Given the description of an element on the screen output the (x, y) to click on. 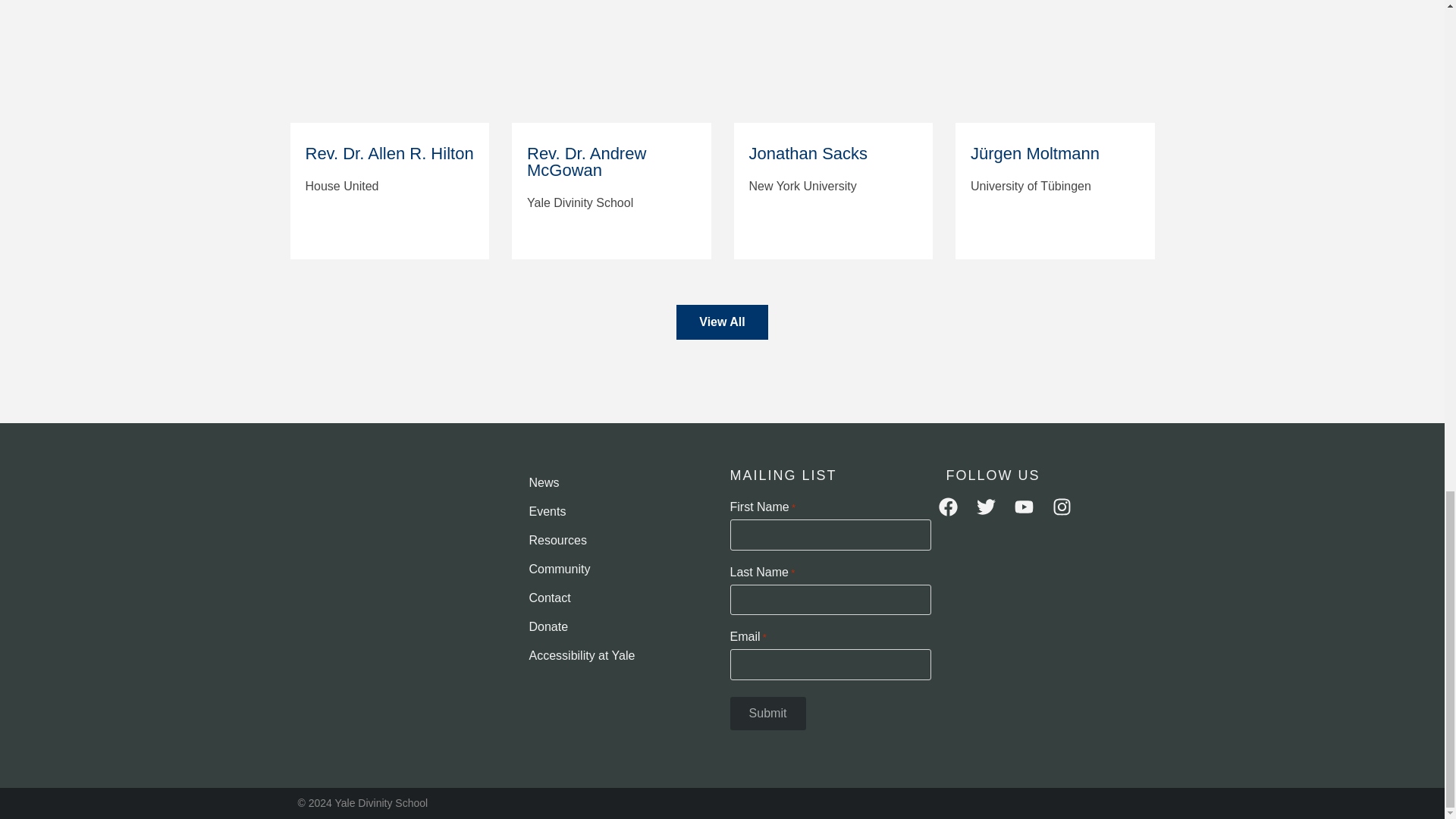
Jonathan Sacks (833, 61)
Rev. Dr. Allen R. Hilton (389, 61)
Rev. Dr. Andrew McGowan (611, 61)
Submit (767, 713)
